Given the description of an element on the screen output the (x, y) to click on. 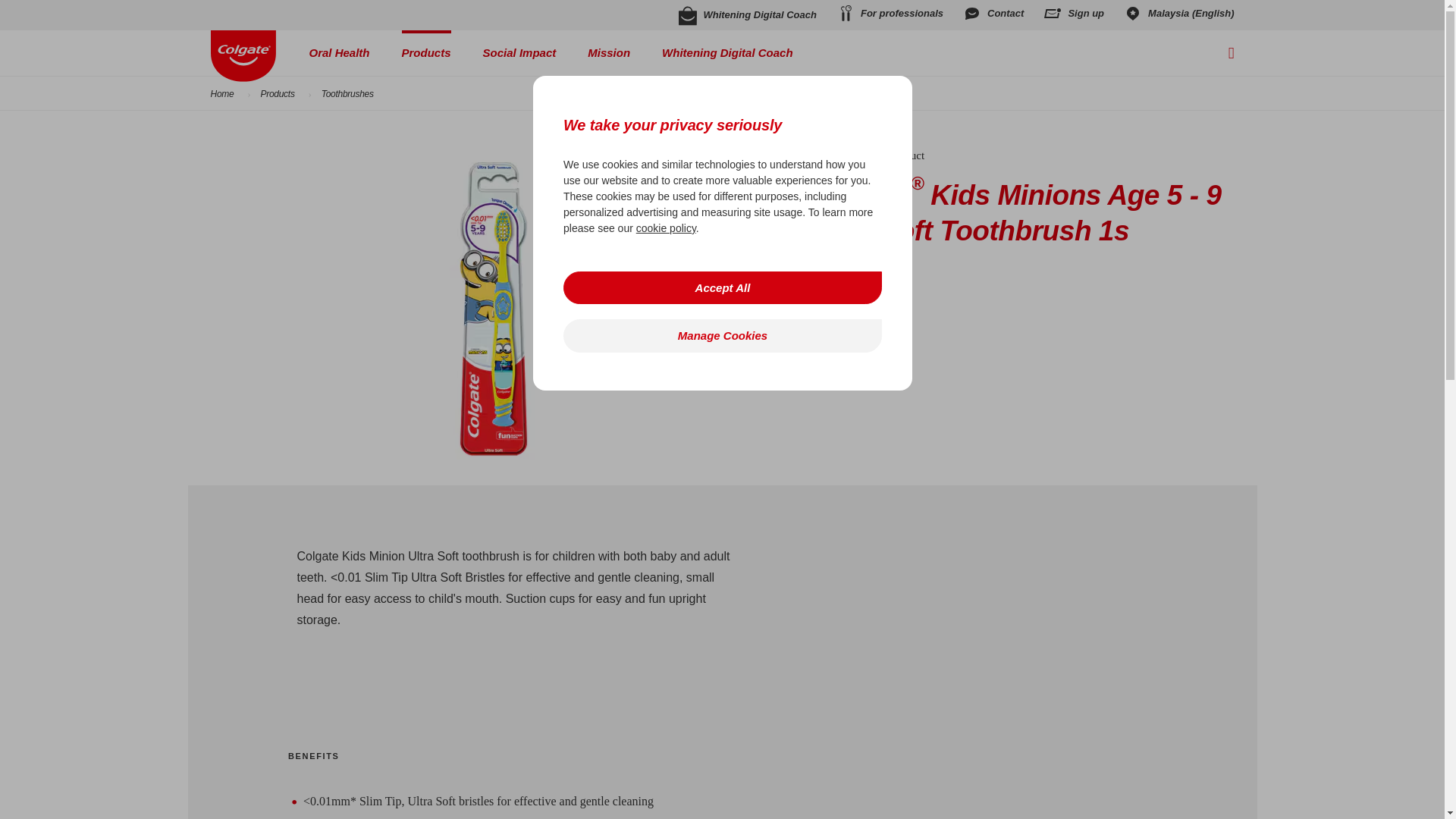
Sign up (1073, 13)
Whitening Digital Coach (747, 14)
For professionals (889, 13)
Contact (992, 13)
For professionals icon (844, 13)
Location icon (1132, 13)
home (243, 55)
Sign up icon (1052, 13)
Contact icon (971, 13)
